Given the description of an element on the screen output the (x, y) to click on. 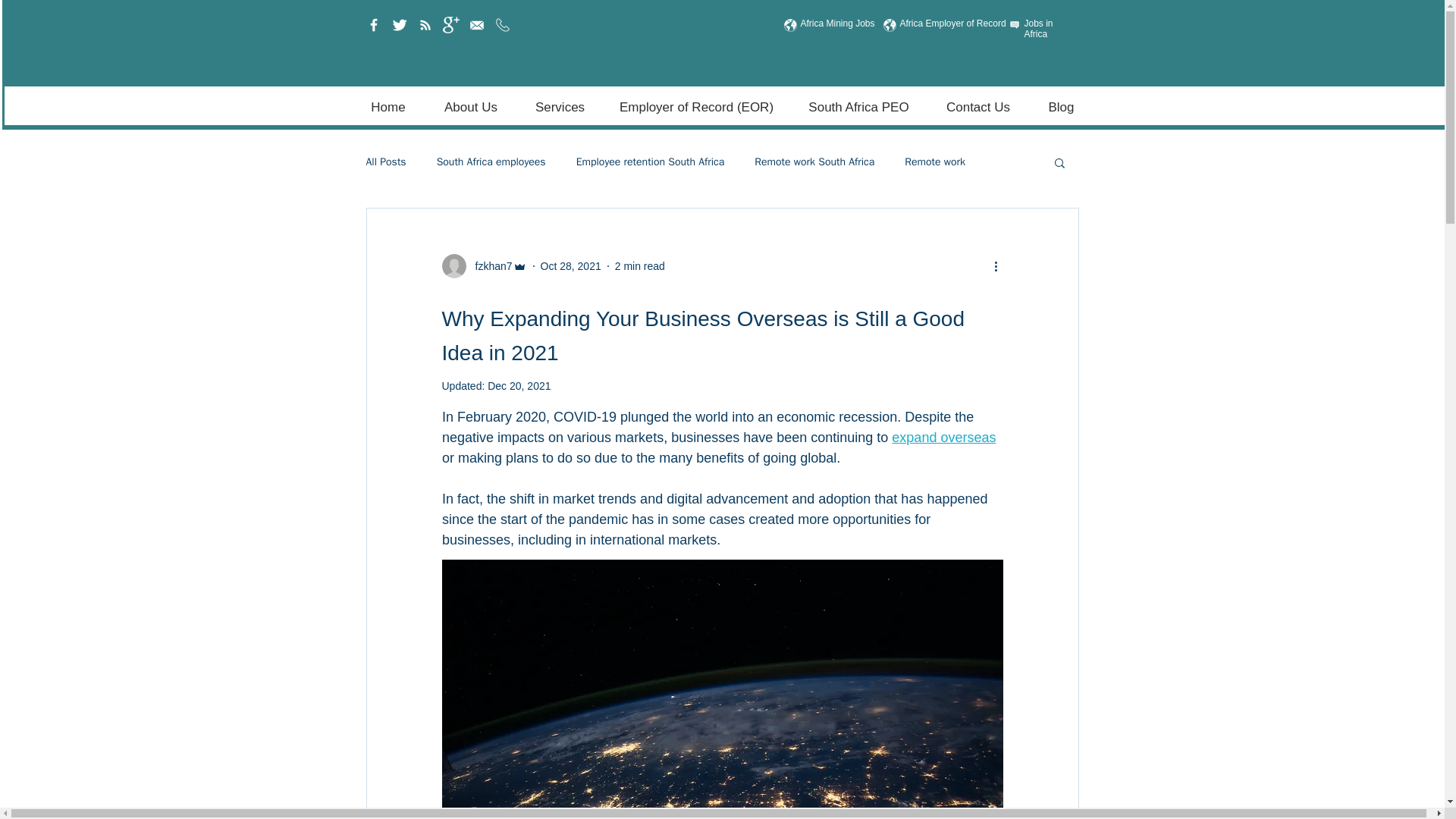
Home (388, 107)
Africa Employer of Record (952, 23)
Jobs in Africa (1037, 28)
Employee retention South Africa (650, 161)
2 min read (639, 265)
About Us (470, 107)
South Africa employees (491, 161)
Africa Mining Jobs (837, 23)
Remote work South Africa (814, 161)
South Africa PEO (859, 107)
Blog (1060, 107)
Dec 20, 2021 (518, 386)
Remote work (934, 161)
expand overseas (943, 437)
fzkhan7 (488, 265)
